Given the description of an element on the screen output the (x, y) to click on. 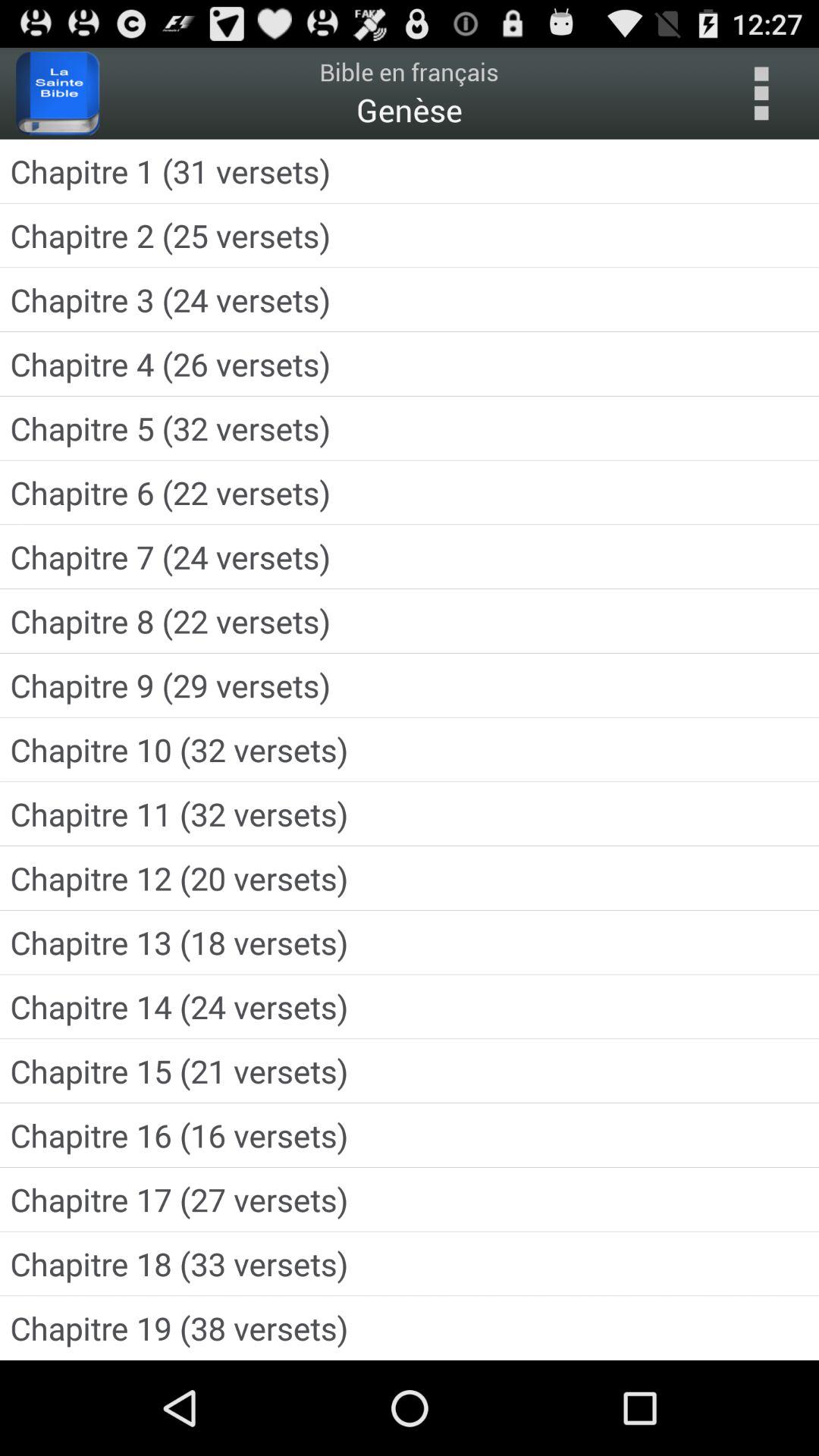
choose icon above the chapitre 1 31 app (761, 93)
